Given the description of an element on the screen output the (x, y) to click on. 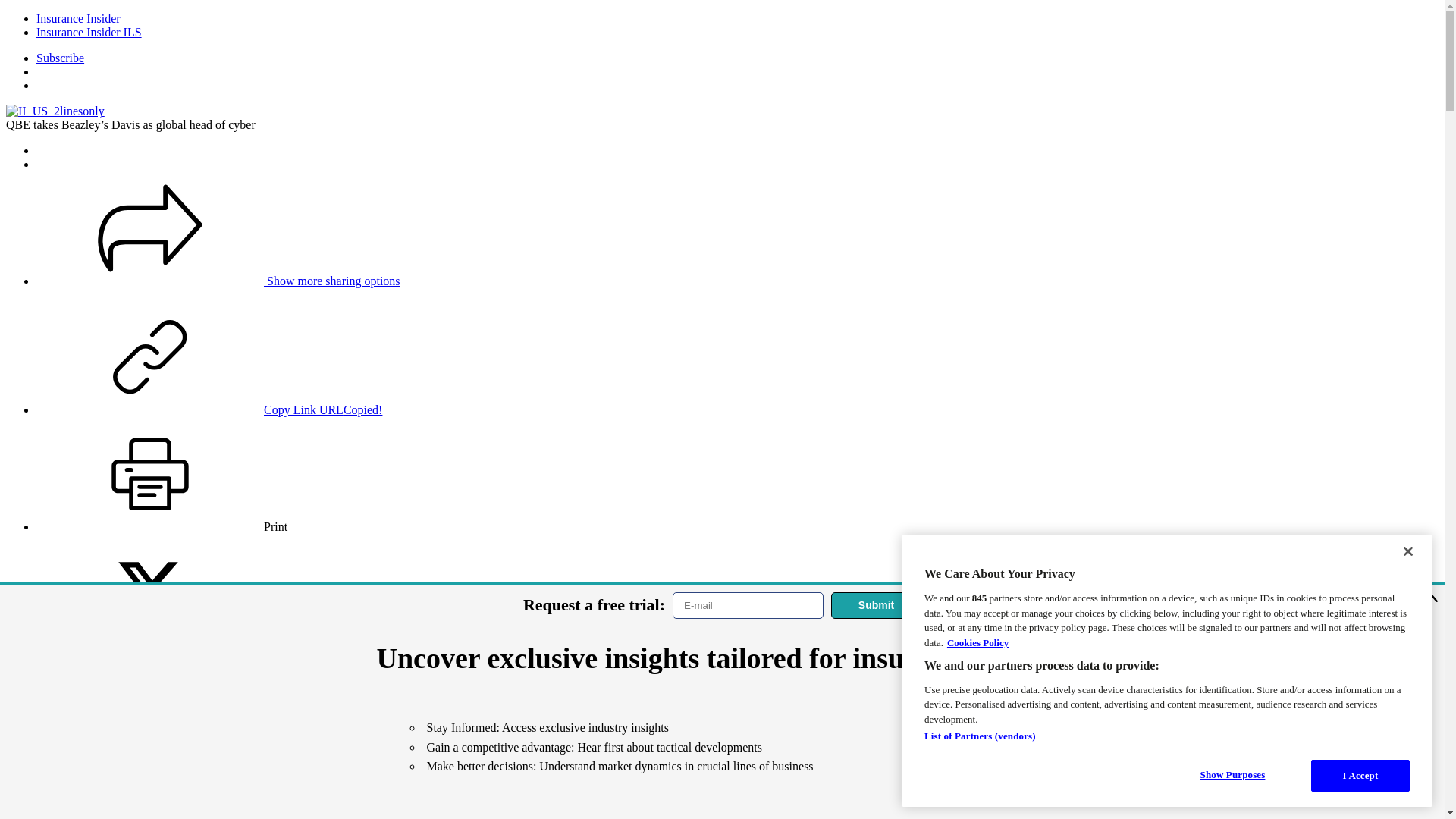
Share (218, 280)
Subscribe (60, 57)
News (50, 812)
Copy Link URLCopied! (208, 409)
Submit (876, 605)
Print (161, 526)
Log in (52, 71)
Free Trial (60, 84)
Show more sharing options (218, 280)
LinkedIn (172, 759)
Insurance Insider ILS (88, 31)
X (154, 643)
Insurance Insider (78, 18)
